Given the description of an element on the screen output the (x, y) to click on. 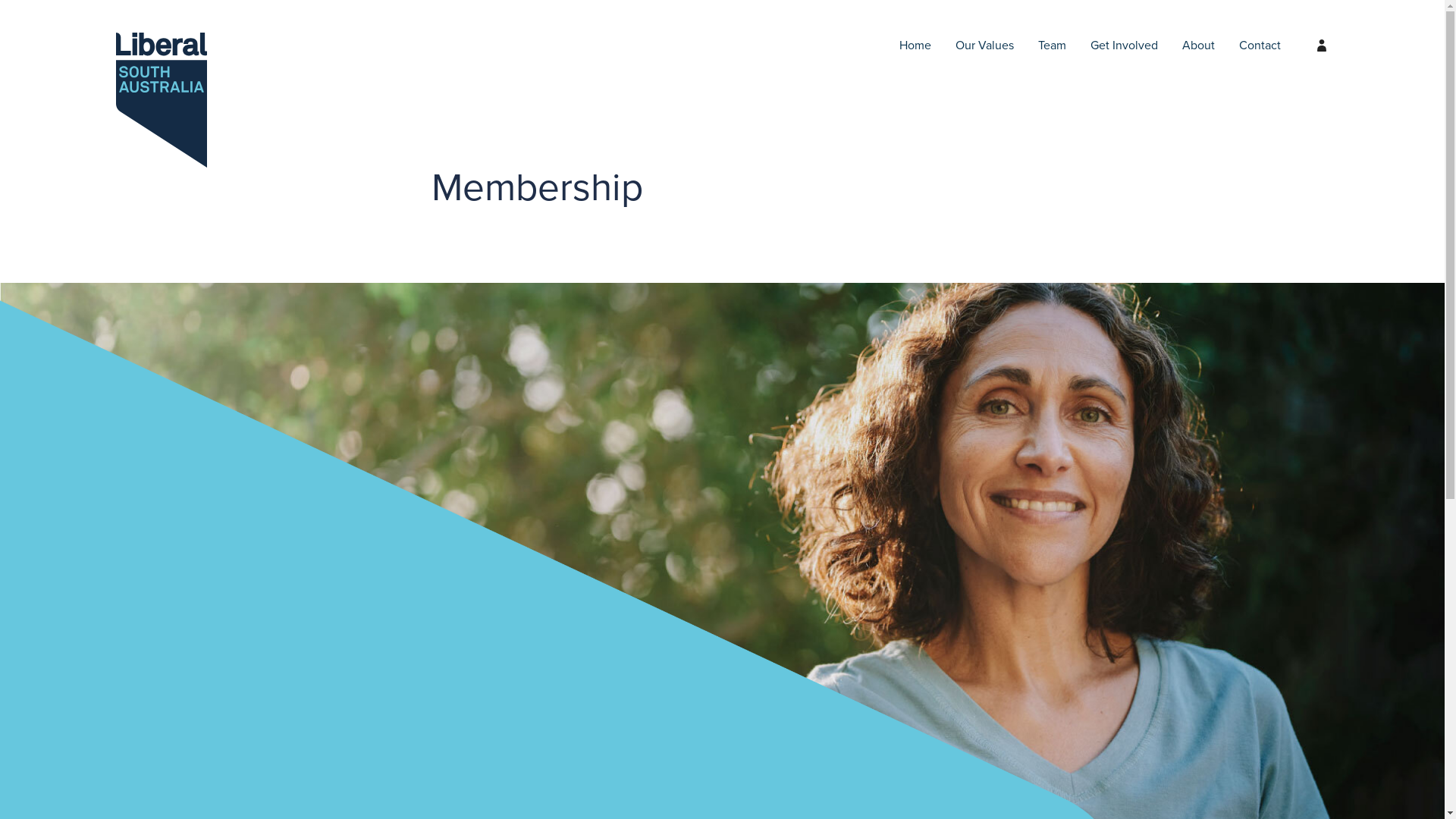
Get Involved Element type: text (1124, 45)
Home Element type: text (915, 45)
Our Values Element type: text (984, 45)
Team Element type: text (1052, 45)
Contact Element type: text (1259, 45)
About Element type: text (1198, 45)
